Given the description of an element on the screen output the (x, y) to click on. 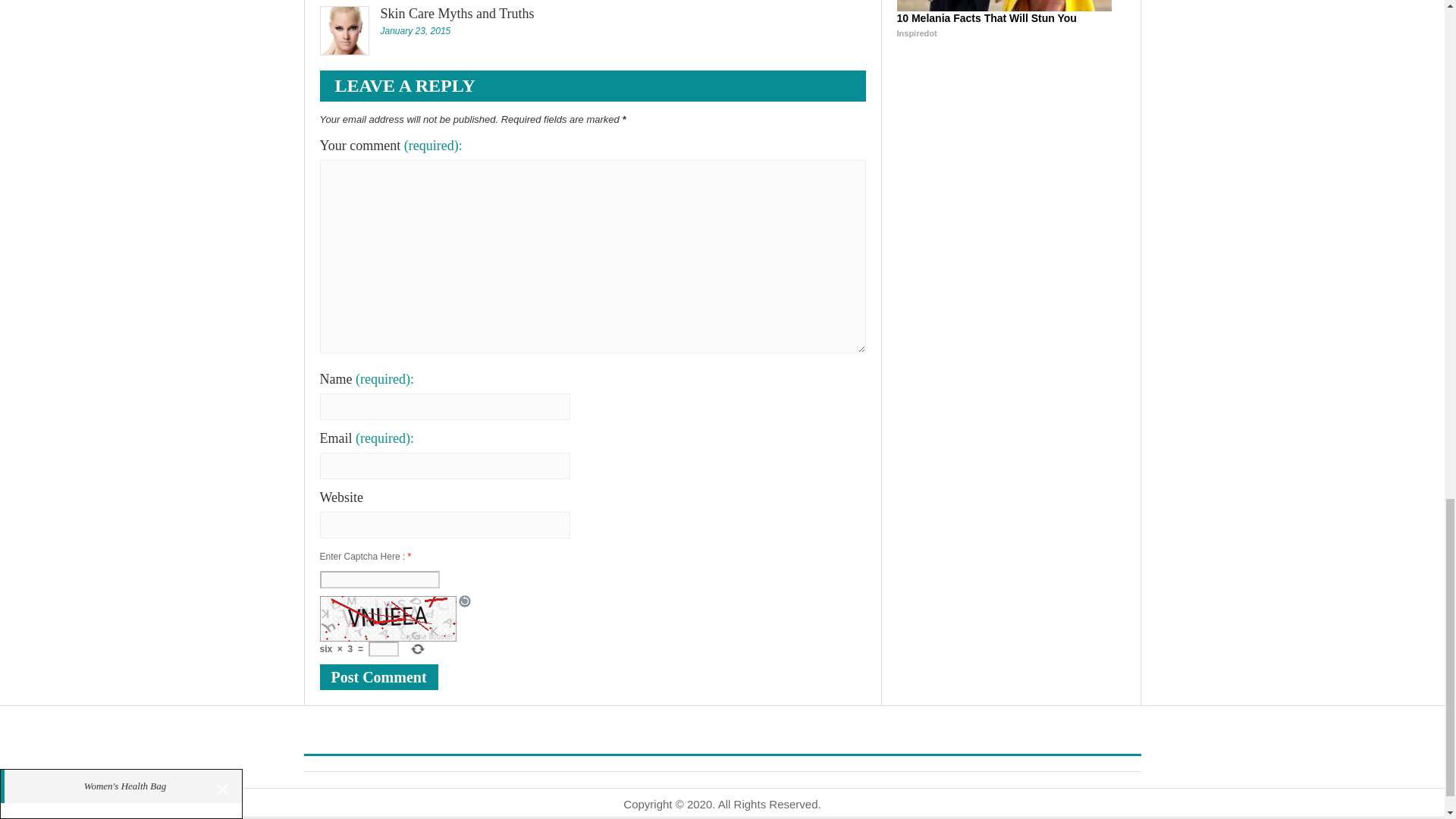
Post Comment (379, 677)
